Given the description of an element on the screen output the (x, y) to click on. 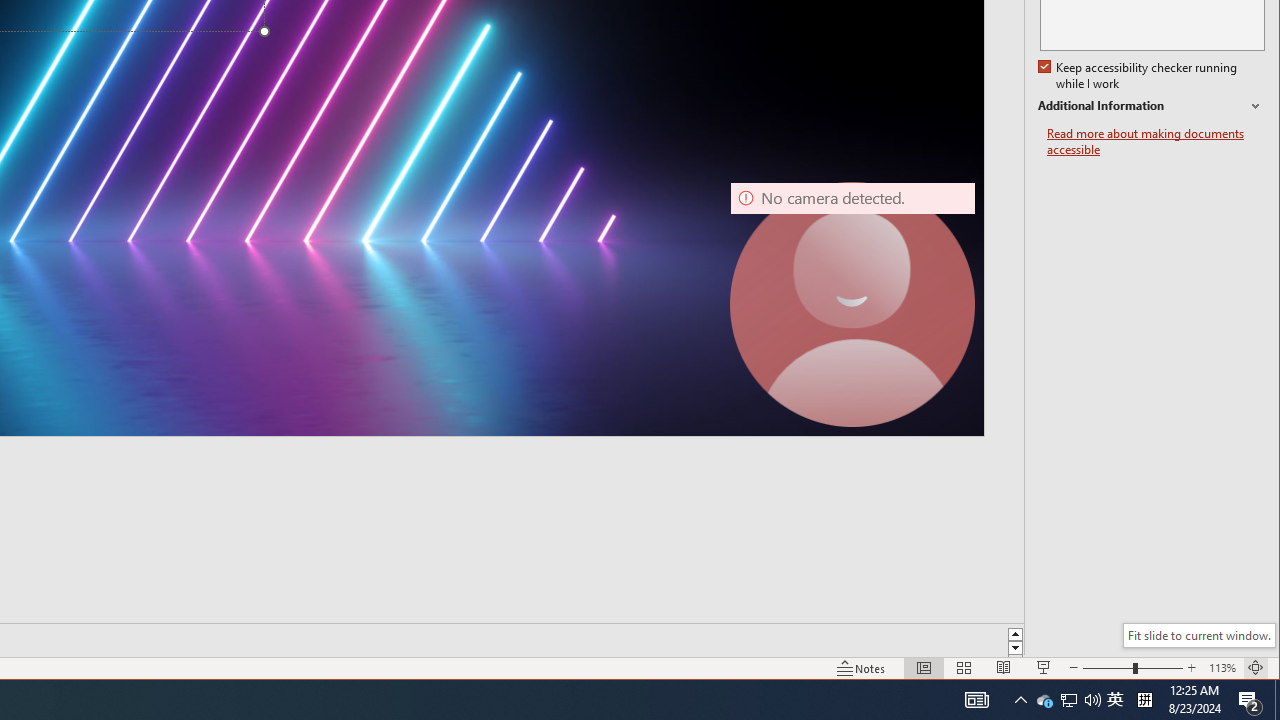
Zoom 113% (1222, 668)
Camera 7, No camera detected. (852, 304)
Read more about making documents accessible (1155, 142)
Additional Information (1151, 106)
